Given the description of an element on the screen output the (x, y) to click on. 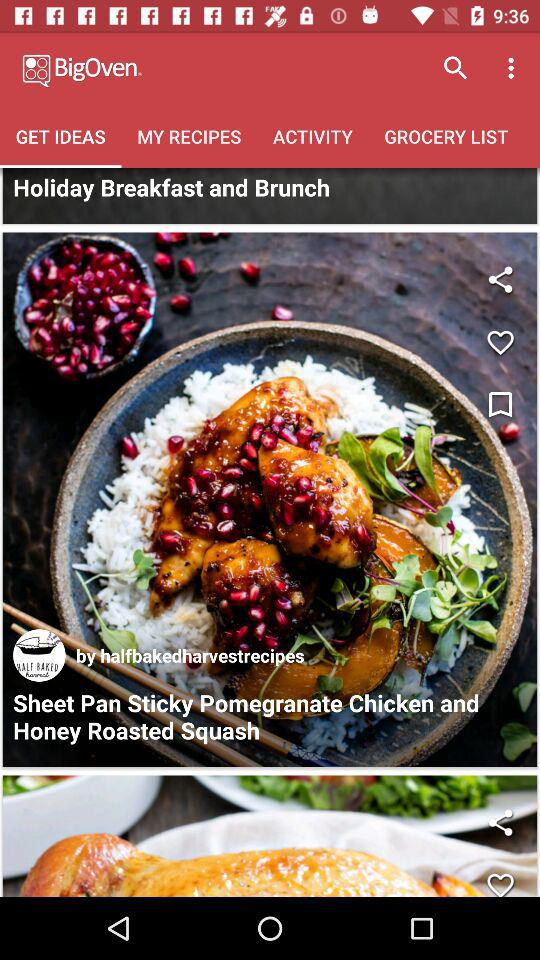
share item on social media (500, 822)
